Given the description of an element on the screen output the (x, y) to click on. 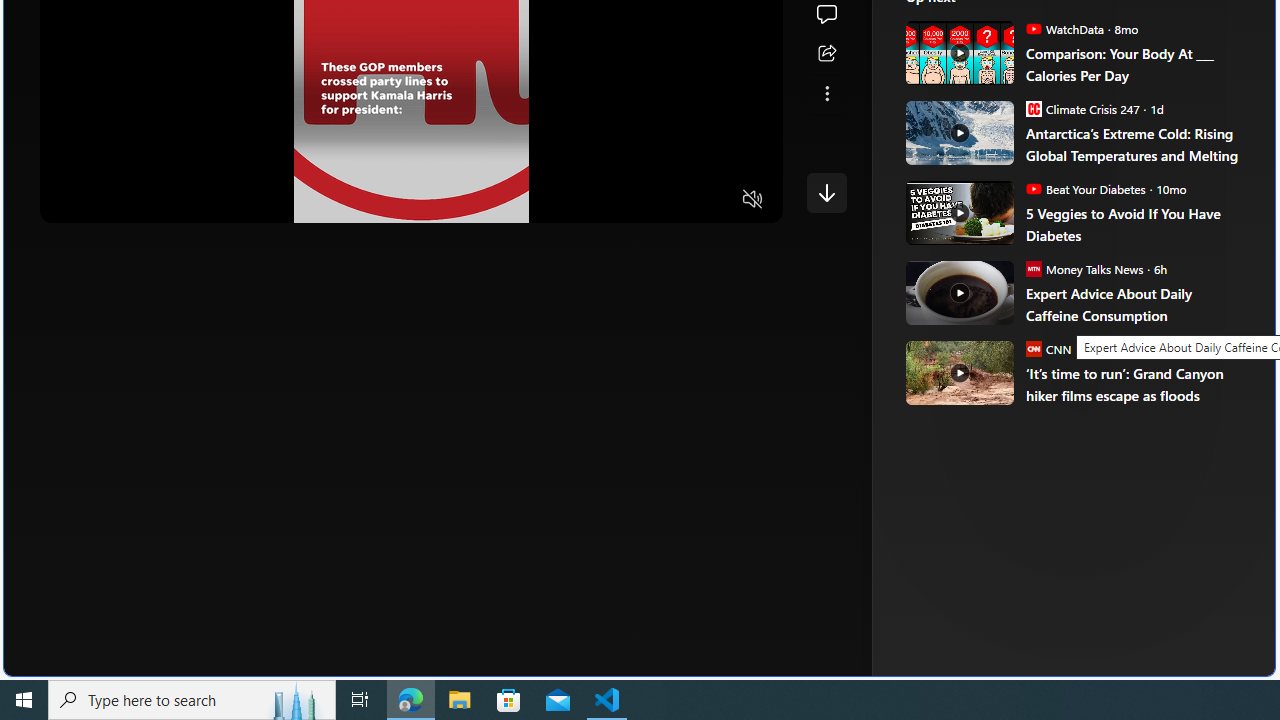
Money Talks News Money Talks News (1084, 268)
Beat Your Diabetes Beat Your Diabetes (1085, 188)
Unmute (753, 200)
Beat Your Diabetes (1033, 188)
Climate Crisis 247 Climate Crisis 247 (1082, 108)
Share this story (826, 53)
Expert Advice About Daily Caffeine Consumption (958, 291)
Class: control (826, 192)
Climate Crisis 247 (1033, 108)
WatchData (1033, 28)
